Given the description of an element on the screen output the (x, y) to click on. 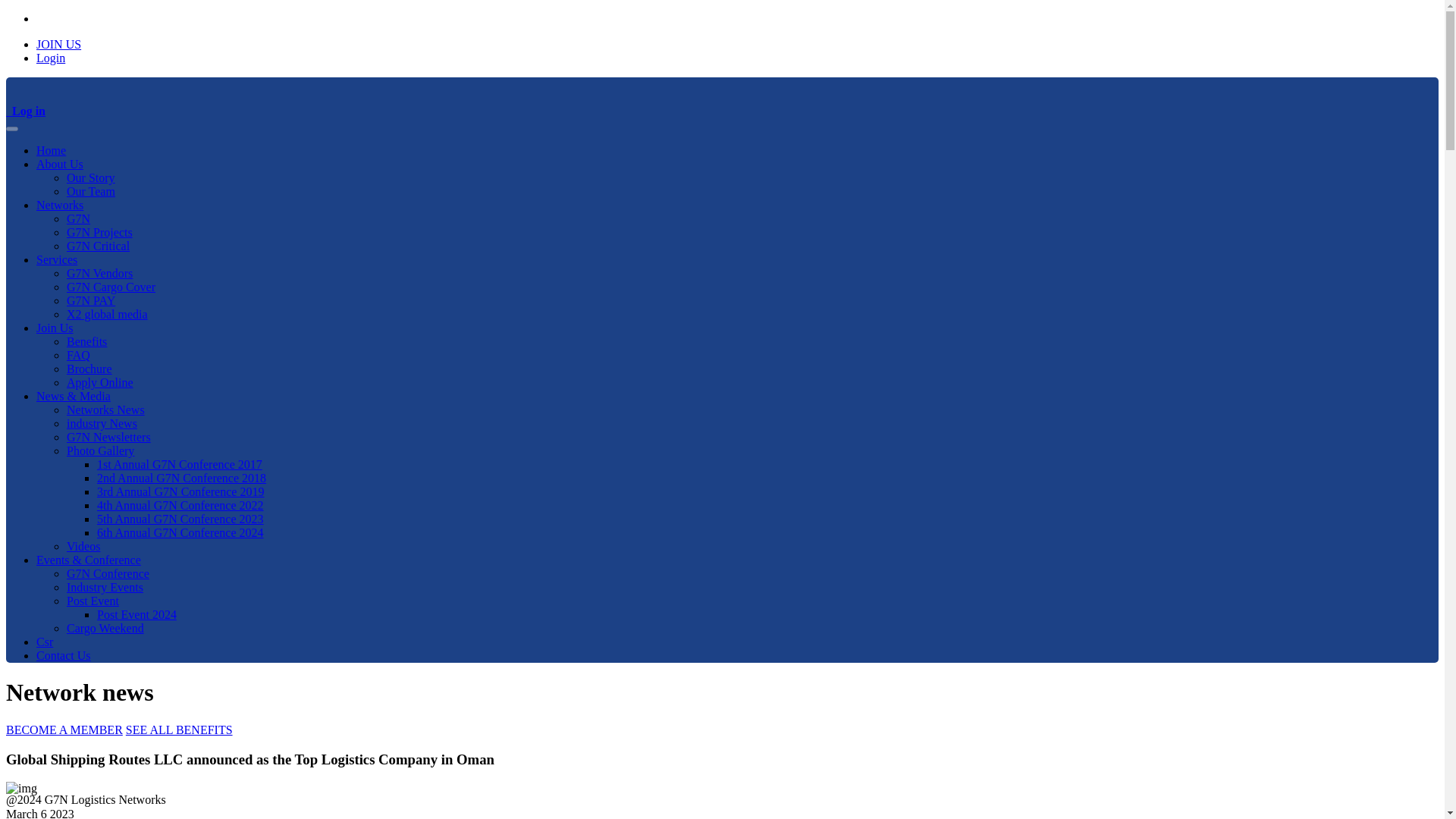
Apply Online (99, 382)
G7N Cargo Cover (110, 286)
4th Annual G7N Conference 2022 (180, 504)
Benefits (86, 341)
Post Event (92, 600)
Photo Gallery (99, 450)
6th Annual G7N Conference 2024 (180, 532)
5th Annual G7N Conference 2023 (180, 518)
FAQ (78, 354)
Networks (59, 205)
